Given the description of an element on the screen output the (x, y) to click on. 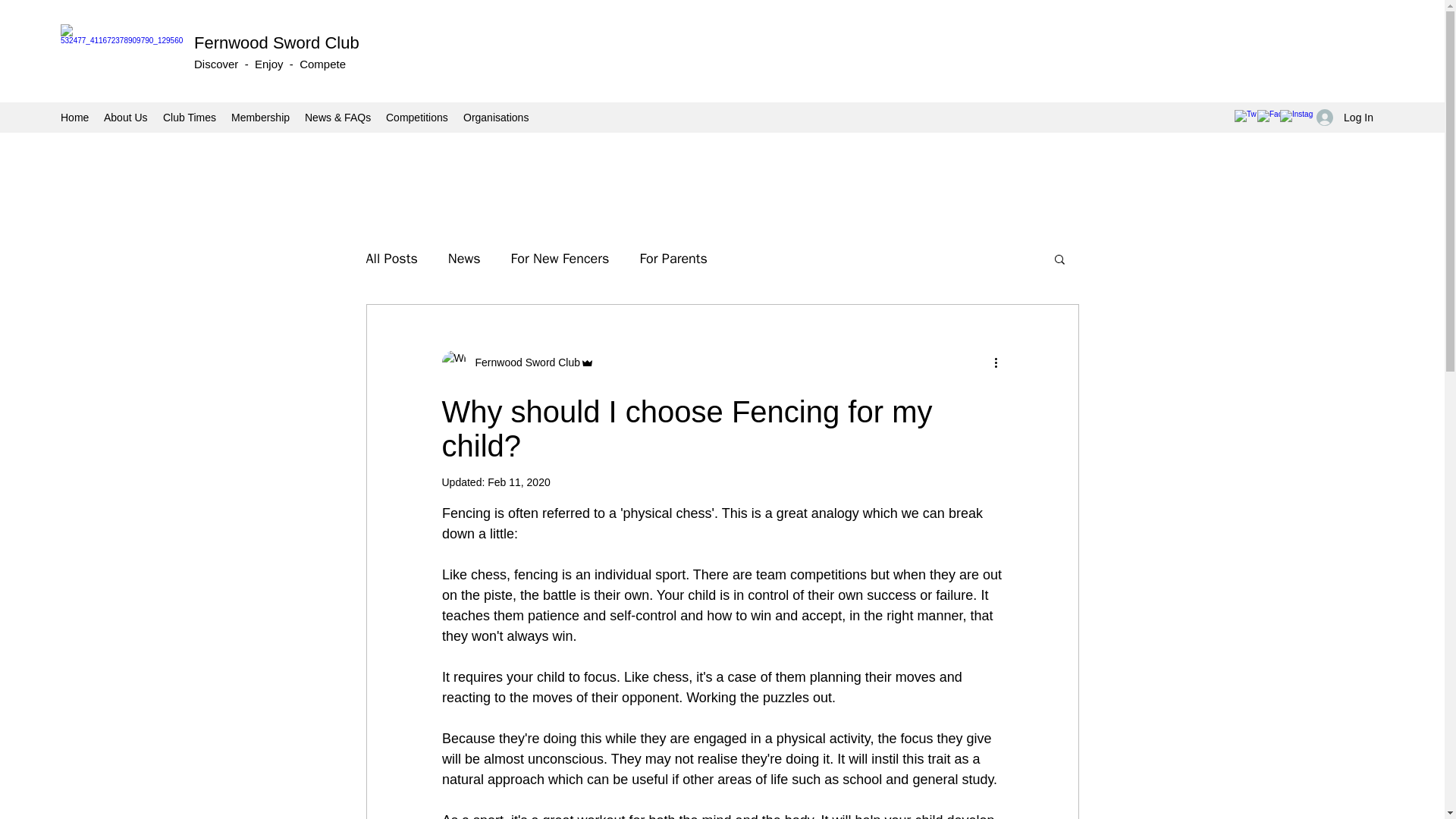
Log In (1345, 117)
Club Times (189, 117)
Organisations (495, 117)
Fernwood Sword Club (276, 42)
All Posts (390, 258)
Fernwood Sword Club (522, 362)
Home (74, 117)
News (464, 258)
For New Fencers (560, 258)
Feb 11, 2020 (518, 481)
Fernwood Sword Club (517, 362)
For Parents (673, 258)
About Us (125, 117)
Membership (260, 117)
Competitions (416, 117)
